Given the description of an element on the screen output the (x, y) to click on. 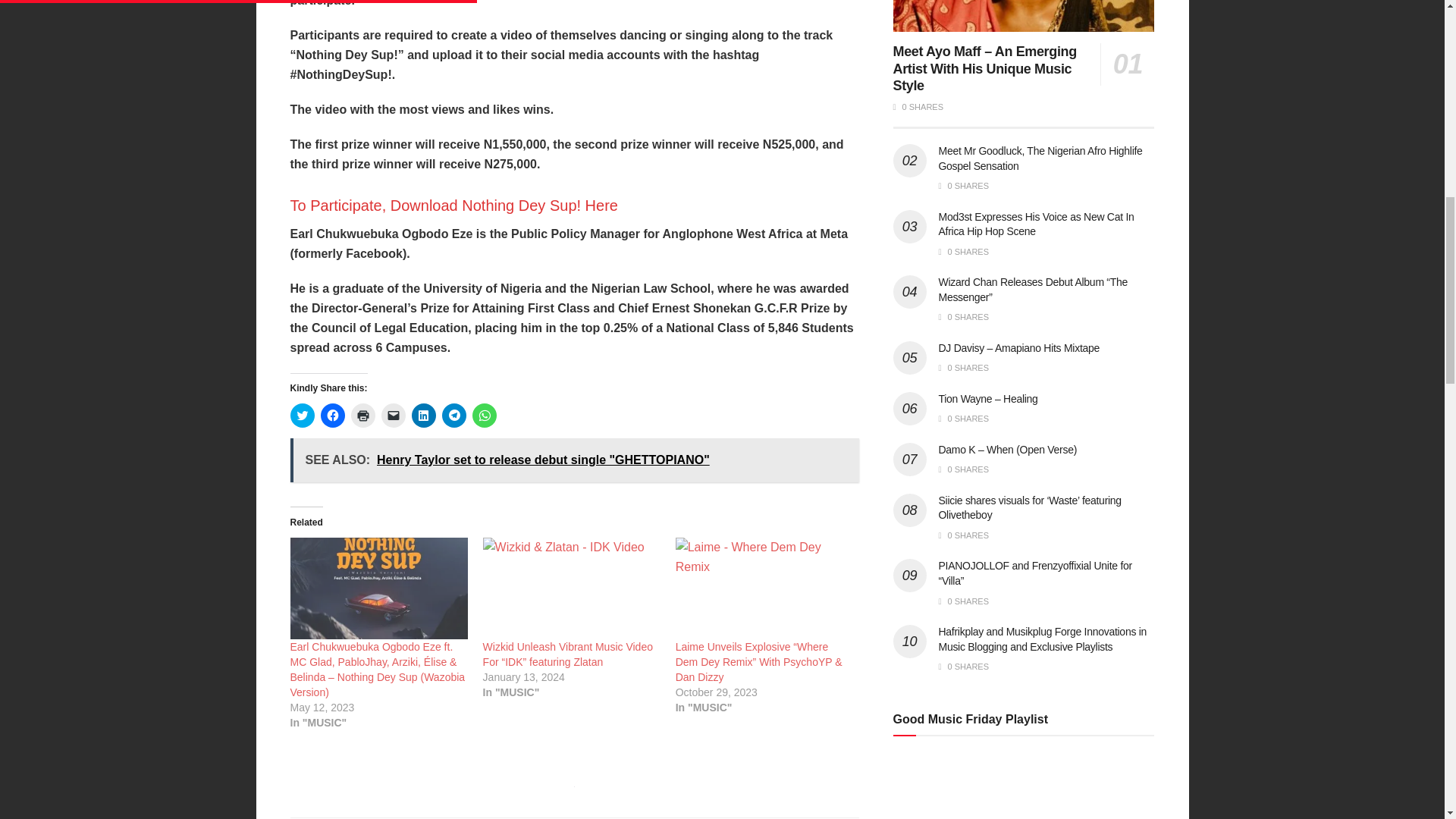
Click to share on LinkedIn (422, 415)
Click to share on Facebook (331, 415)
Click to email a link to a friend (392, 415)
Click to share on WhatsApp (483, 415)
Click to print (362, 415)
Click to share on Telegram (453, 415)
Click to share on Twitter (301, 415)
